Given the description of an element on the screen output the (x, y) to click on. 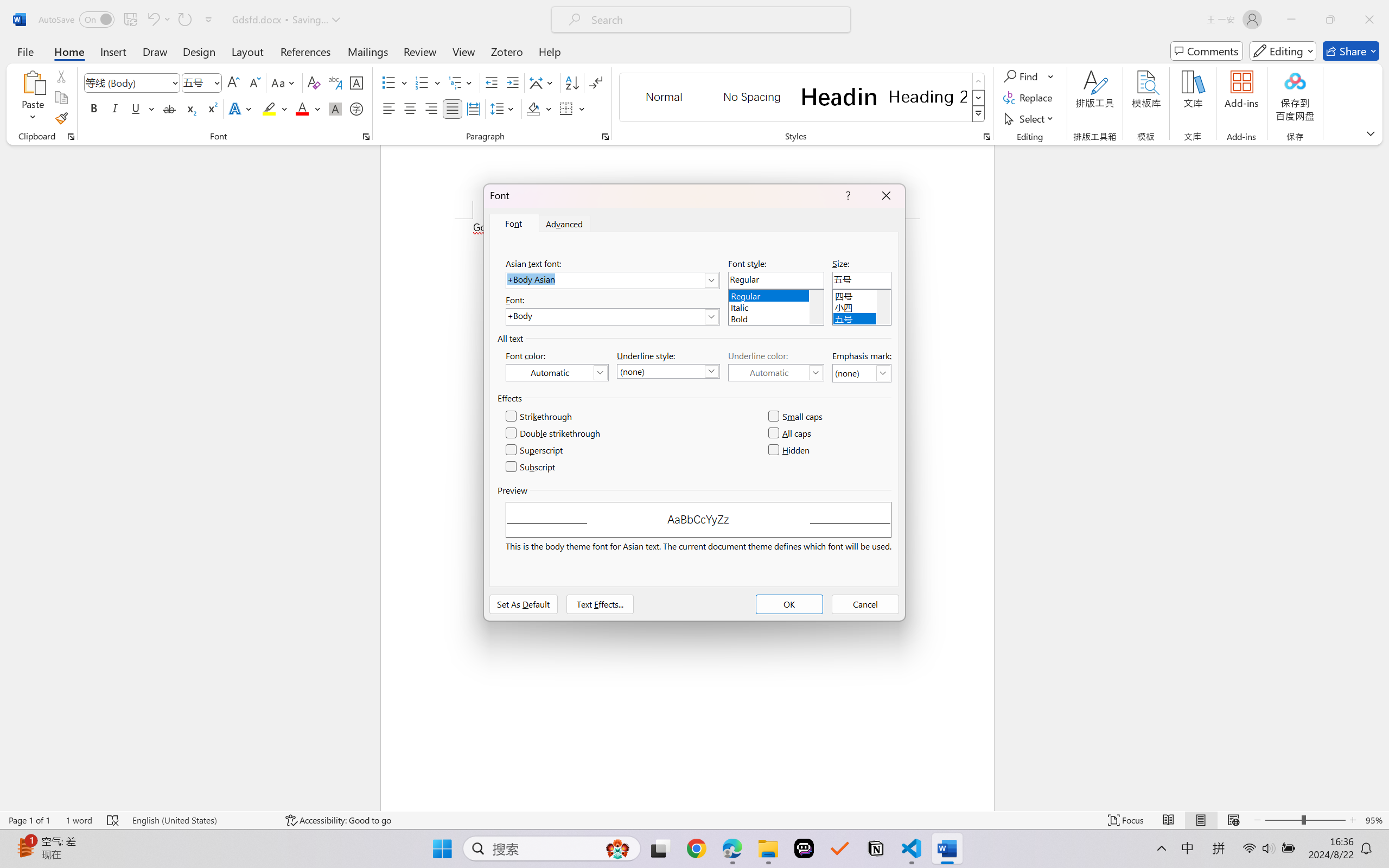
Small caps (796, 416)
RichEdit Control (861, 280)
Italic (775, 305)
Notion (875, 848)
Class: MsoCommandBar (694, 819)
Distributed (473, 108)
